Given the description of an element on the screen output the (x, y) to click on. 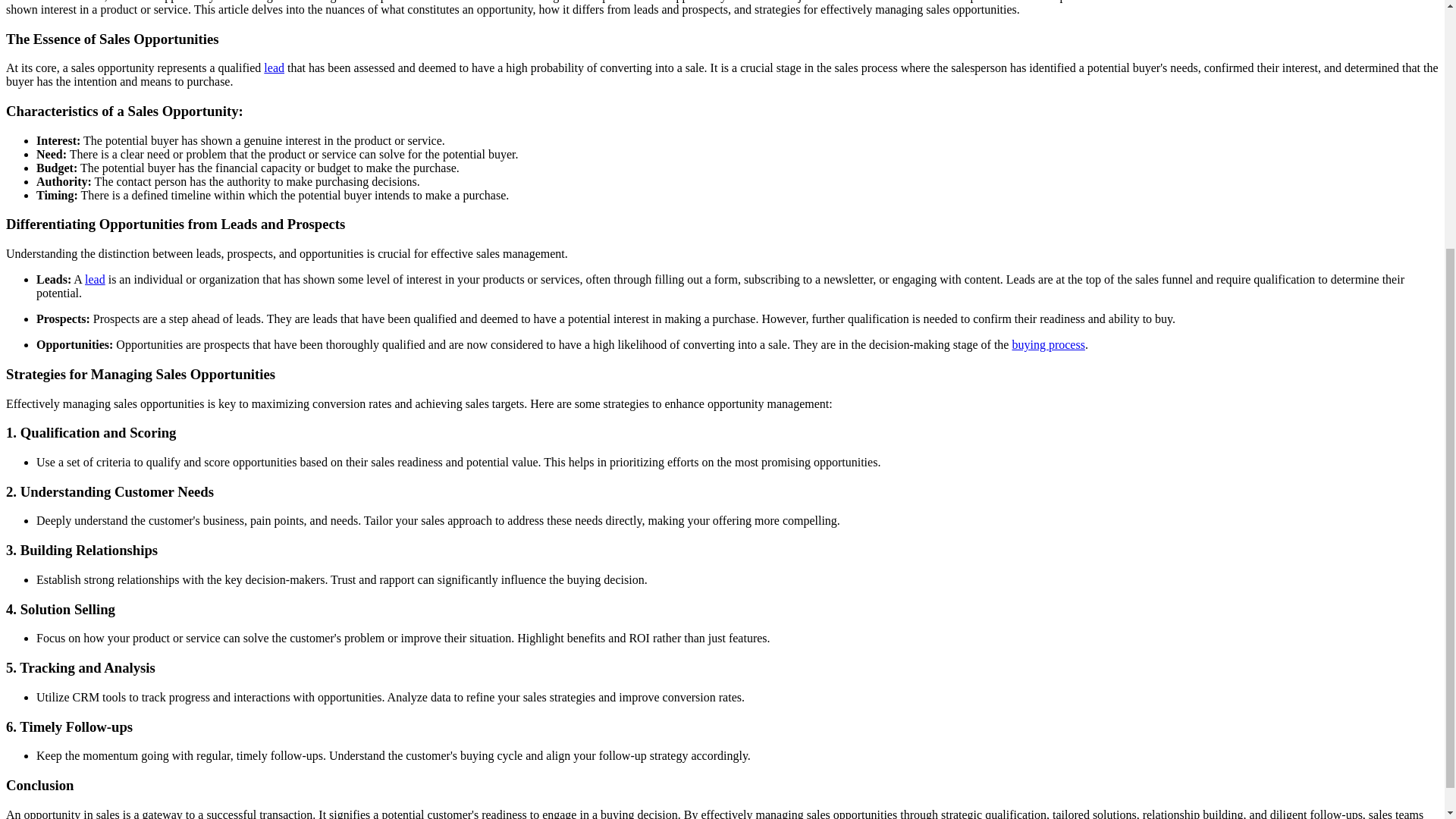
lead (273, 67)
buying process (1047, 344)
lead (94, 278)
